Given the description of an element on the screen output the (x, y) to click on. 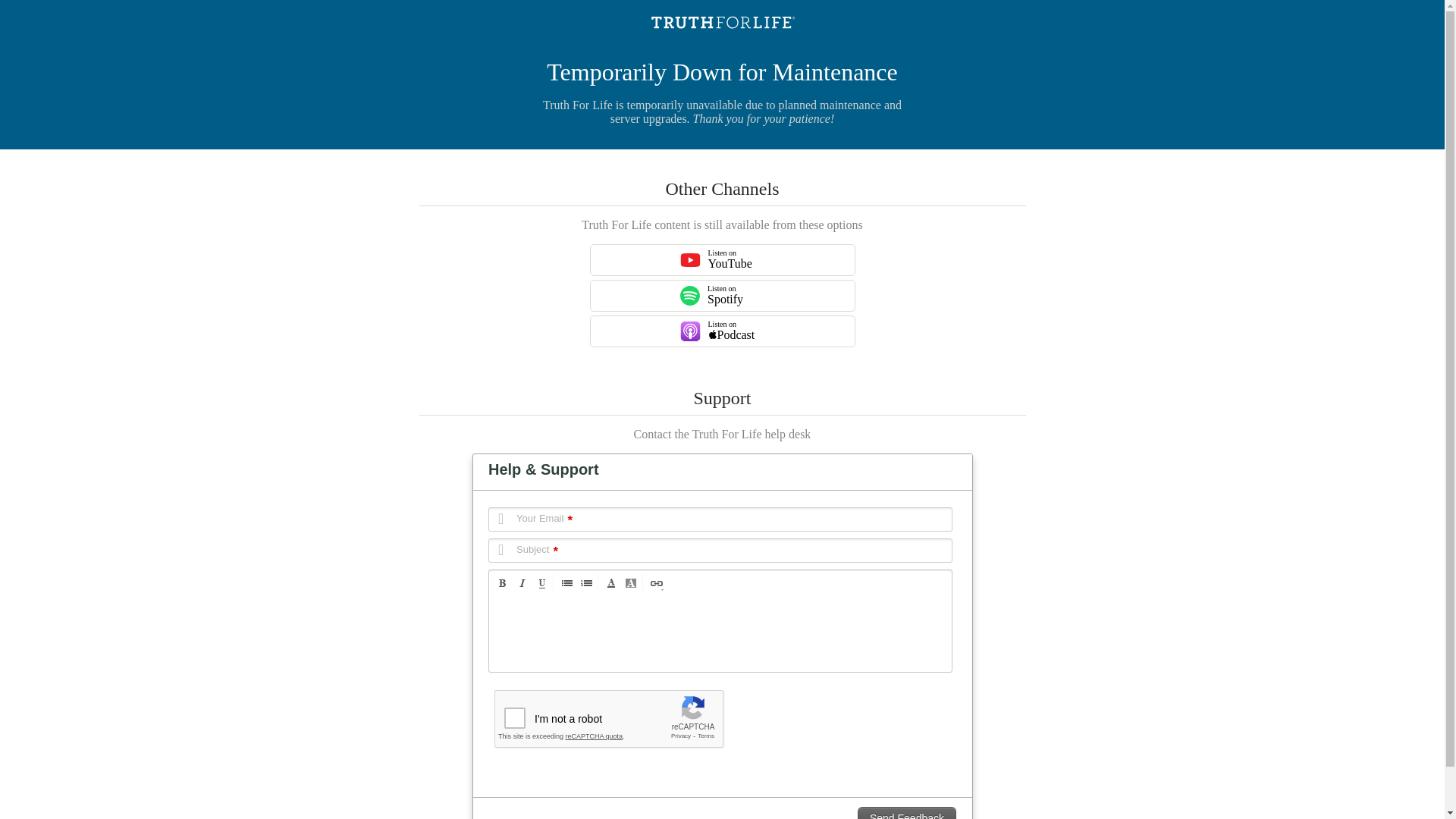
Listen on YouTube (689, 260)
YouTube (722, 260)
Spotify (722, 296)
Listen on Spotify (689, 295)
Listen on Apple Podcasts (689, 331)
Podcast (722, 331)
